Given the description of an element on the screen output the (x, y) to click on. 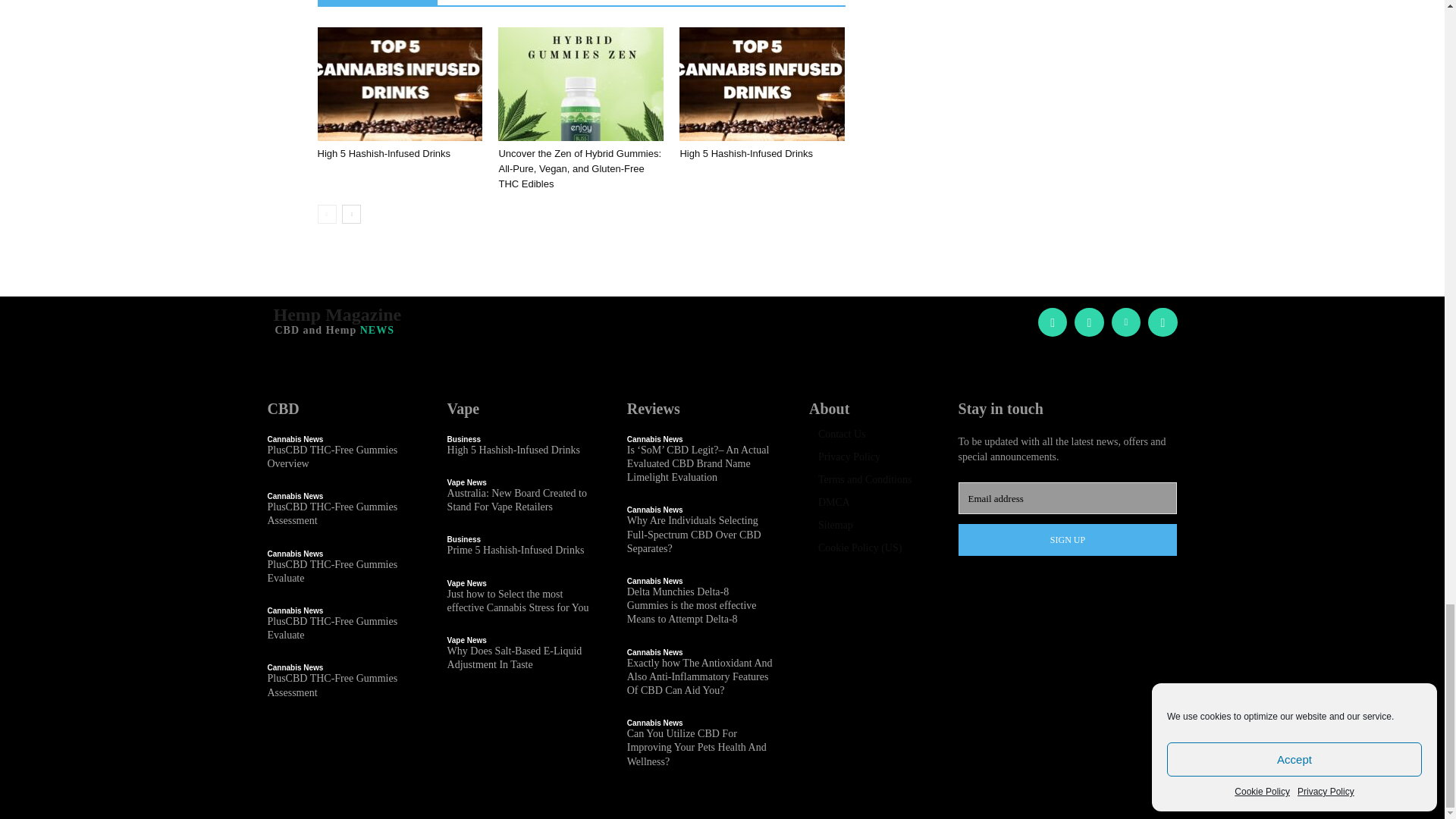
High 5 Hashish-Infused Drinks (761, 83)
High 5 Hashish-Infused Drinks (399, 83)
High 5 Hashish-Infused Drinks (745, 153)
High 5 Hashish-Infused Drinks (383, 153)
